Given the description of an element on the screen output the (x, y) to click on. 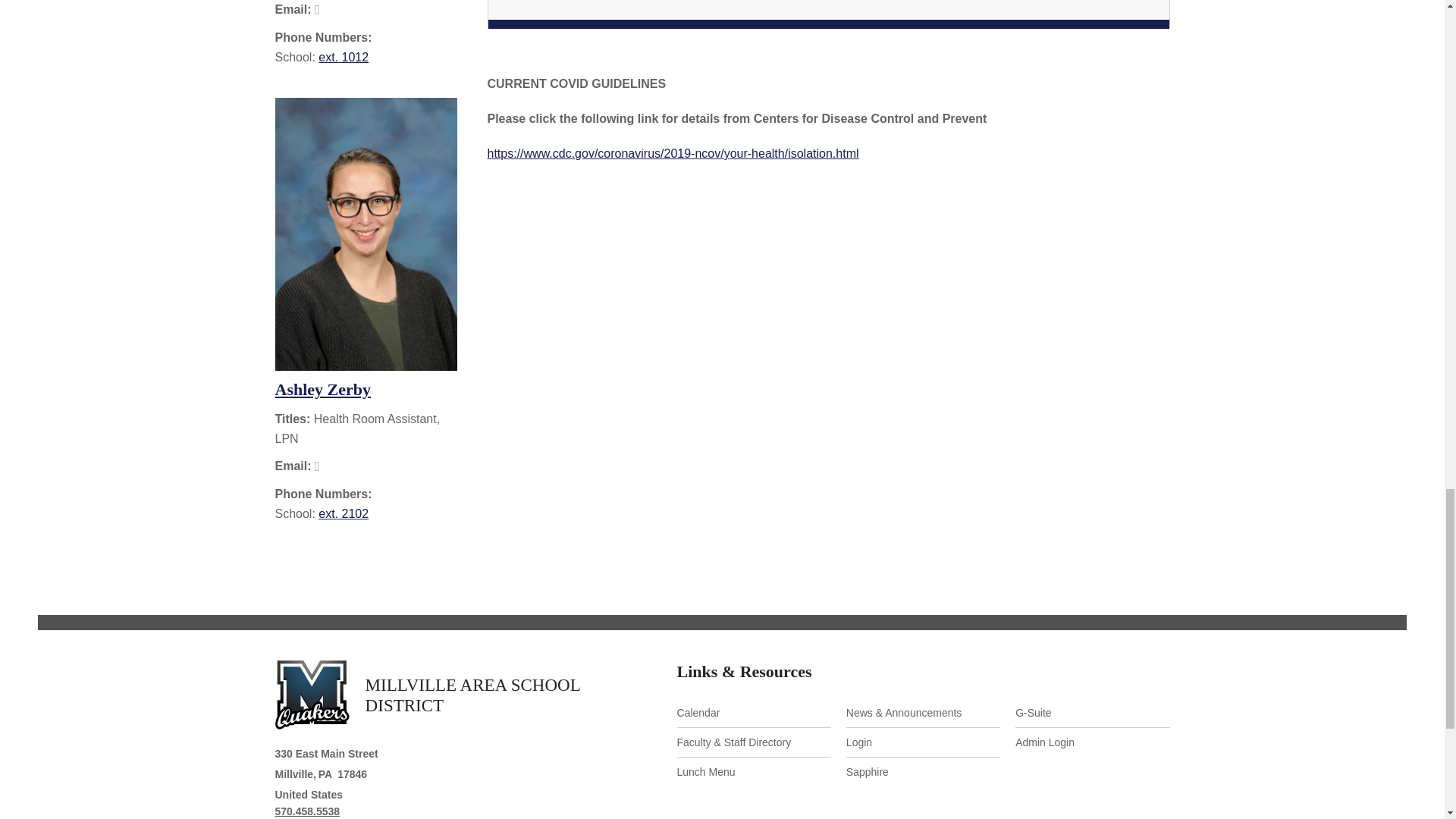
Email (317, 9)
Email (317, 465)
